Given the description of an element on the screen output the (x, y) to click on. 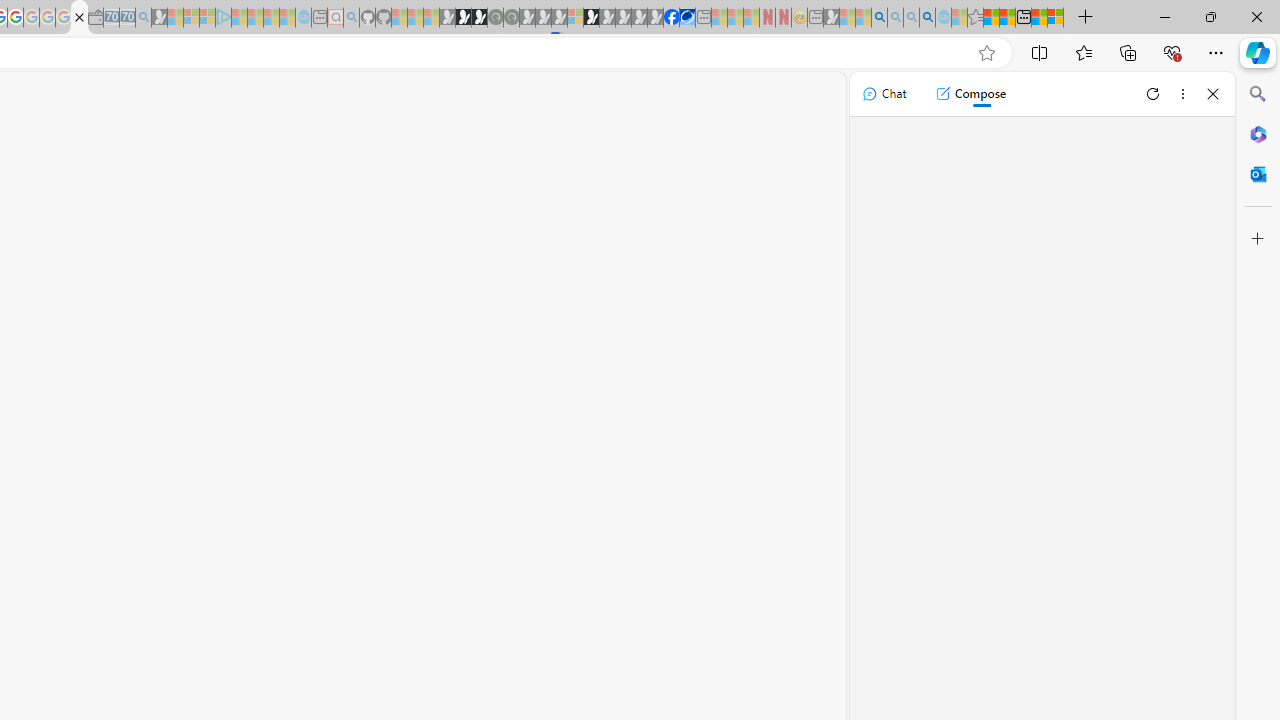
MSN - Sleeping (831, 17)
Favorites - Sleeping (975, 17)
Nordace | Facebook (671, 17)
Chat (884, 93)
